Given the description of an element on the screen output the (x, y) to click on. 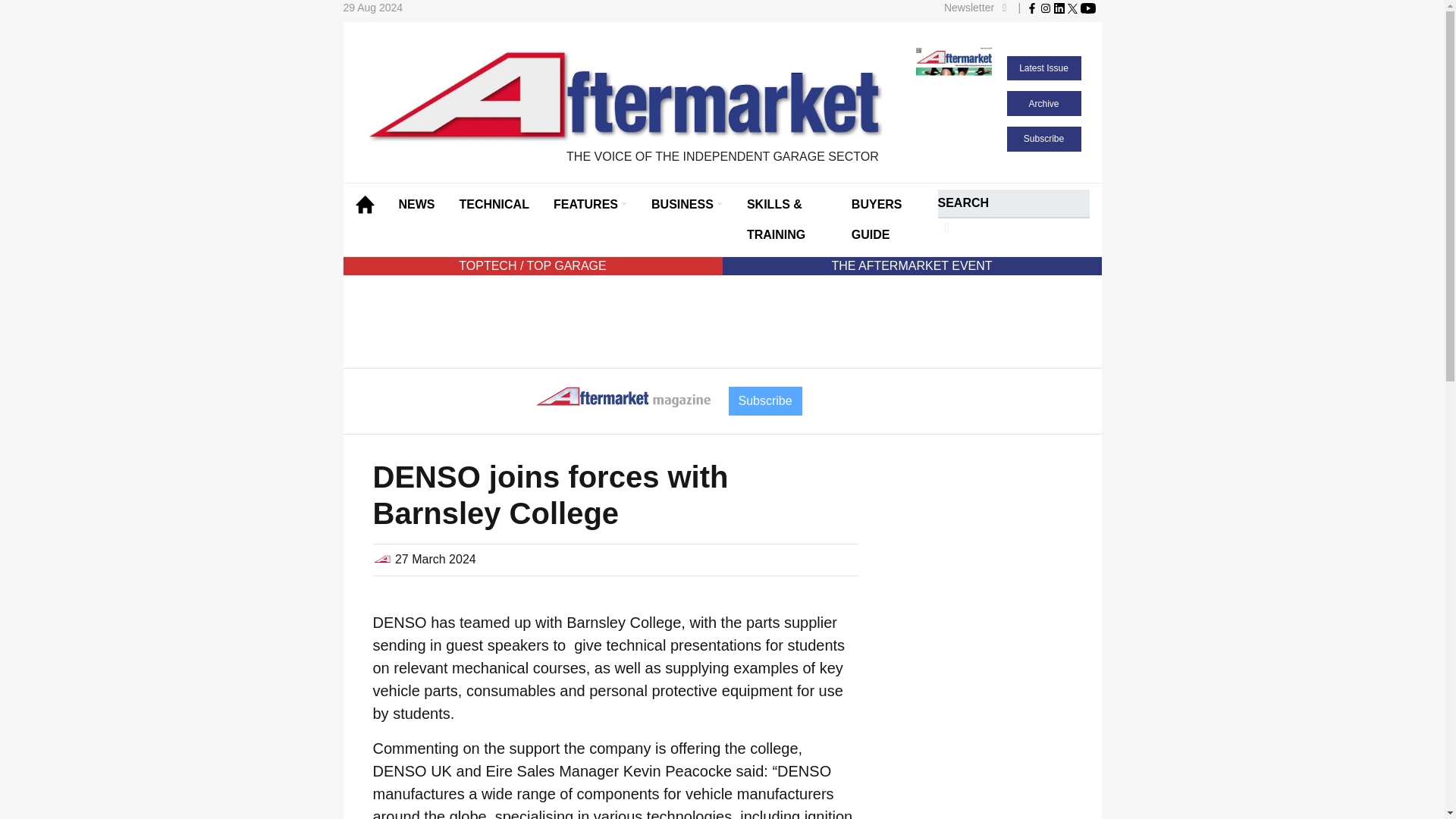
Latest Issue (1044, 68)
Newsletter (977, 7)
NEWS (416, 204)
Subscribe (765, 399)
Subscribe (1044, 138)
TECHNICAL (493, 204)
THE AFTERMARKET EVENT (911, 265)
BUYERS GUIDE (883, 219)
FEATURES (590, 204)
BUSINESS (687, 204)
